Given the description of an element on the screen output the (x, y) to click on. 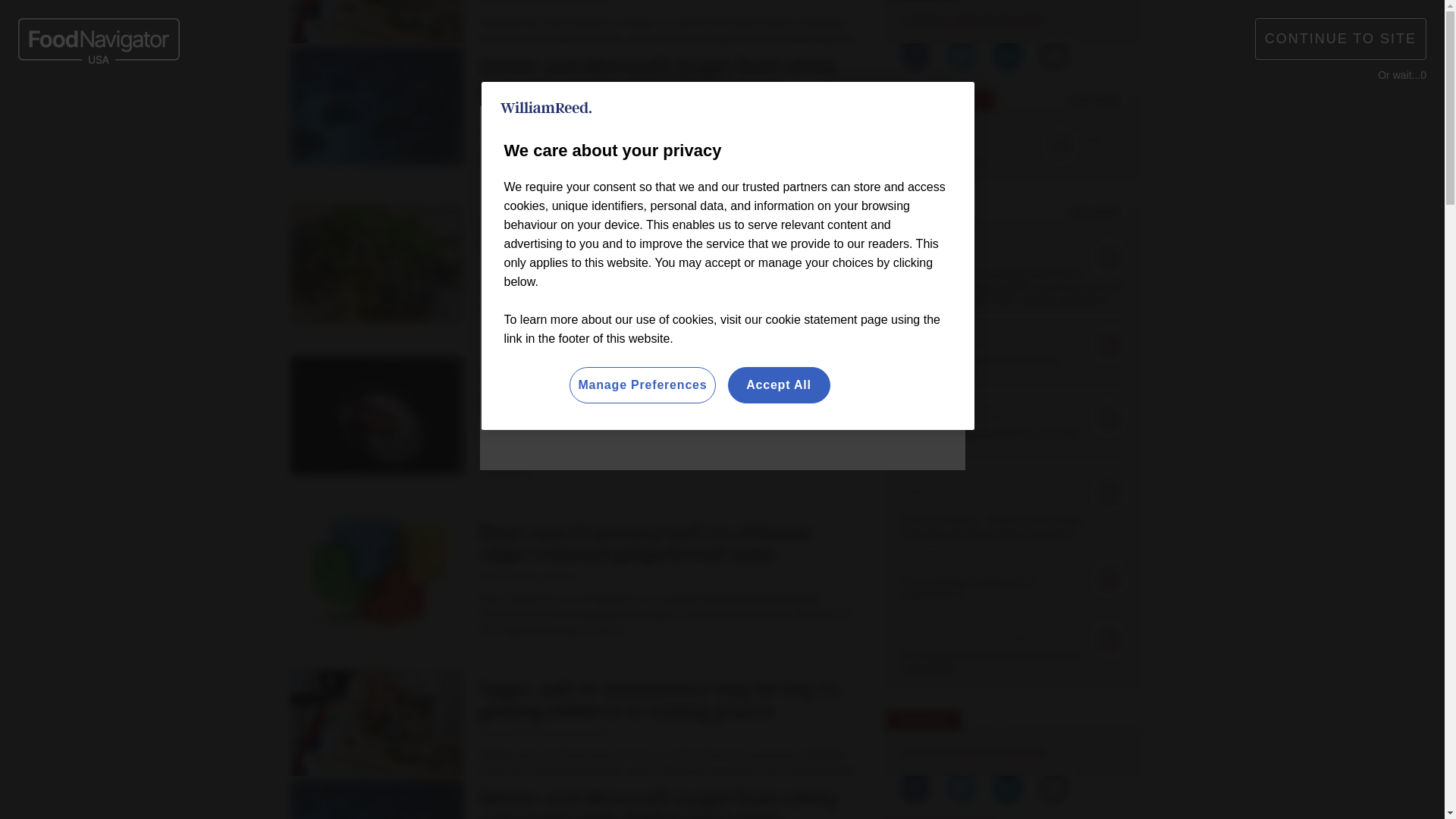
LATAM (804, 22)
EUROPE (650, 22)
Sign in (1029, 20)
3rd party ad content (722, 423)
News (360, 159)
REGISTER (1110, 20)
Send (1129, 90)
William Reed (545, 107)
Home (313, 159)
USA (707, 22)
Sign out (1032, 20)
Send (1129, 89)
CONTINUE TO SITE (1340, 38)
